Given the description of an element on the screen output the (x, y) to click on. 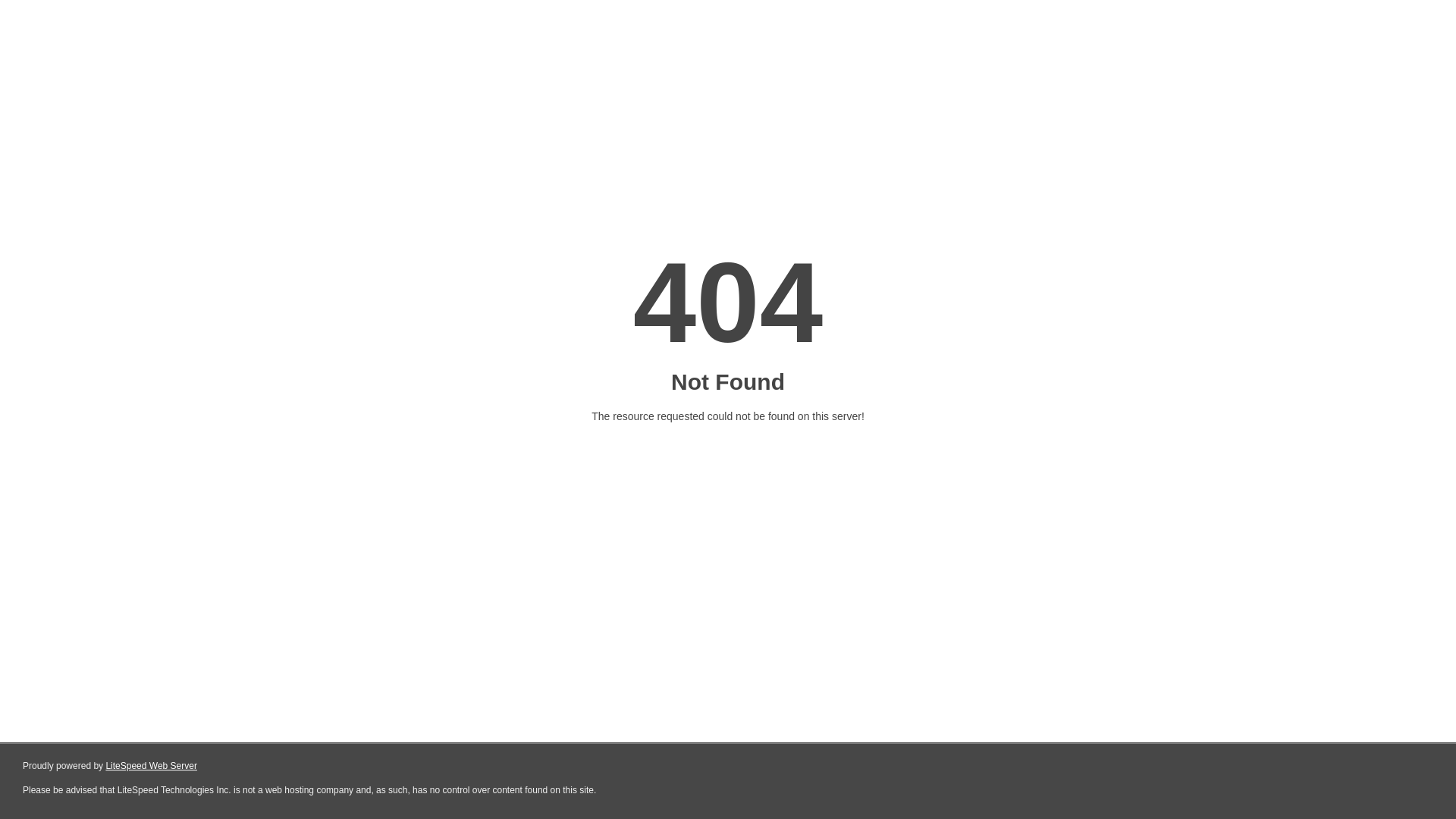
LiteSpeed Web Server Element type: text (151, 765)
